Given the description of an element on the screen output the (x, y) to click on. 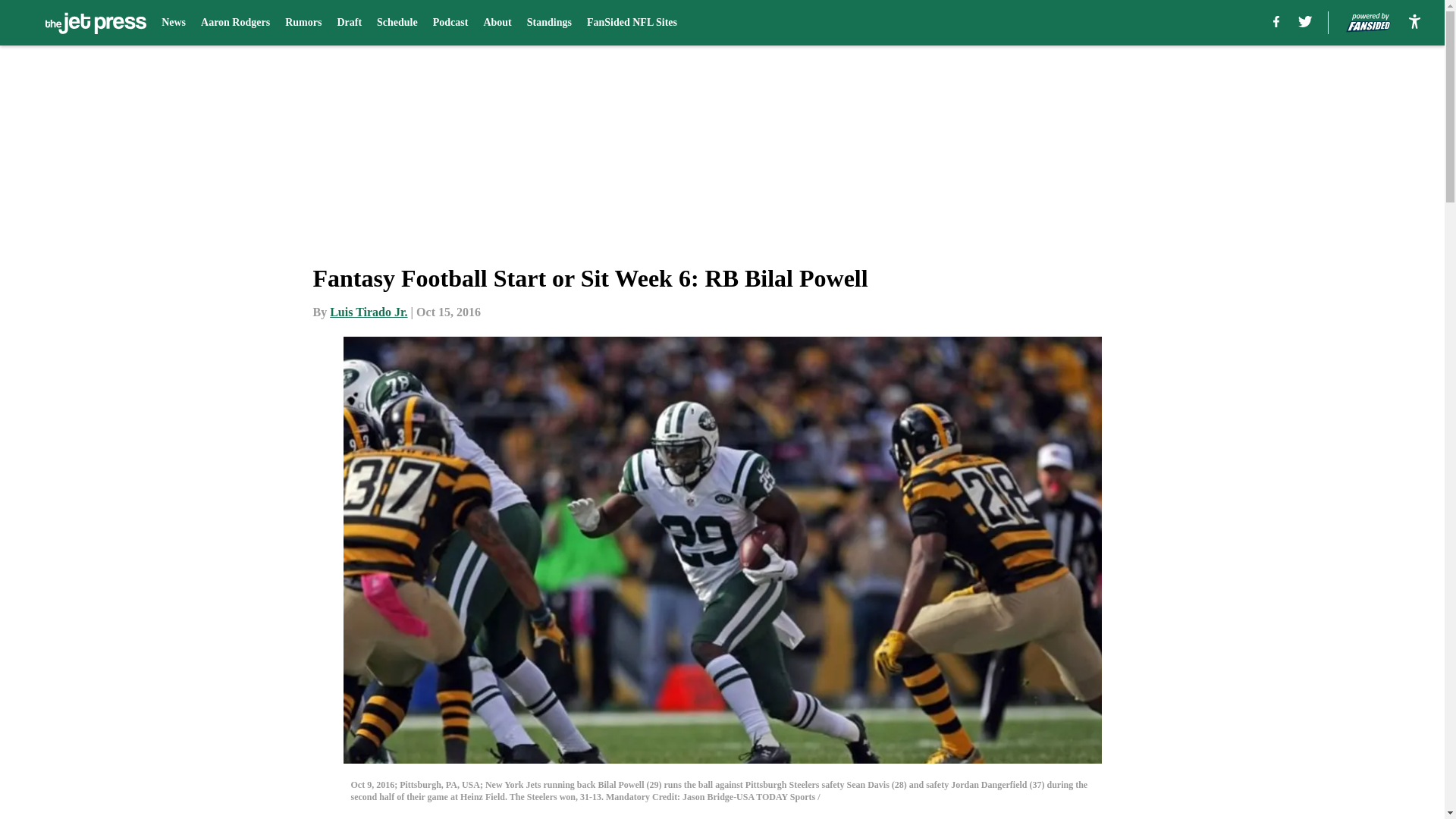
Luis Tirado Jr. (368, 311)
FanSided NFL Sites (631, 22)
News (173, 22)
About (497, 22)
Aaron Rodgers (234, 22)
Standings (549, 22)
Rumors (303, 22)
Podcast (450, 22)
Draft (348, 22)
Schedule (397, 22)
